Given the description of an element on the screen output the (x, y) to click on. 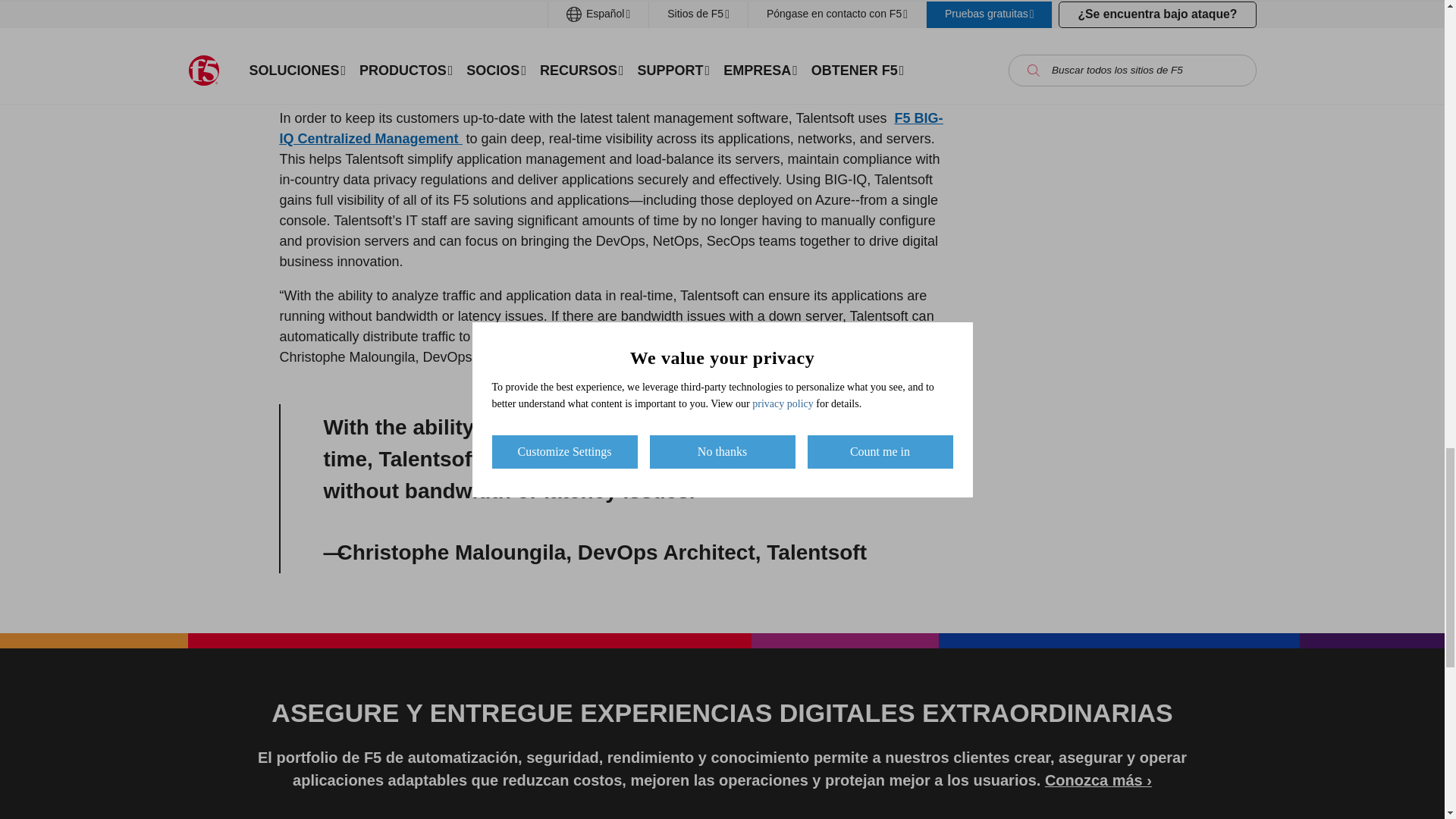
F5 BIG-IQ Centralized Management  (610, 128)
